Given the description of an element on the screen output the (x, y) to click on. 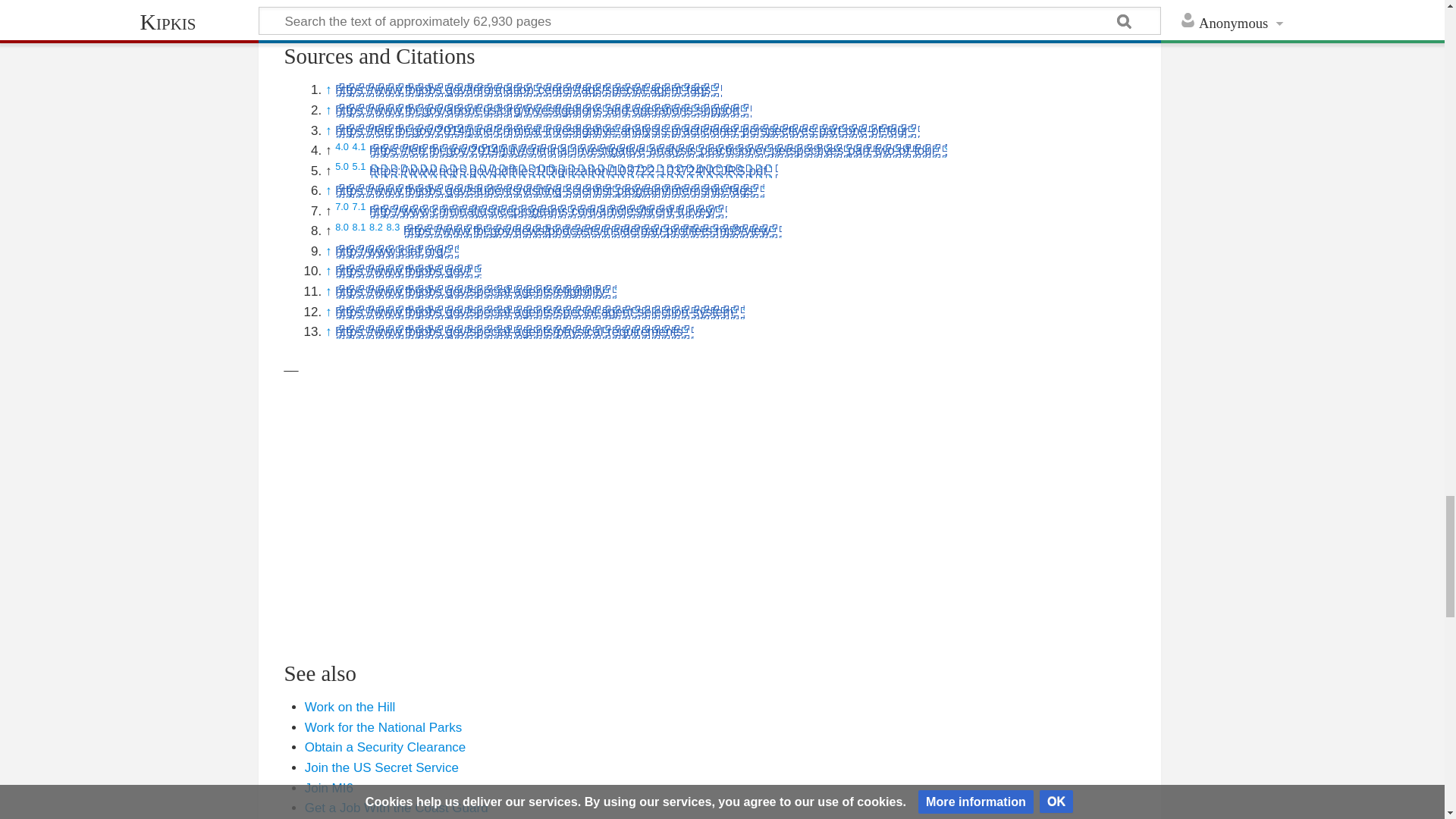
Work on the Hill (350, 707)
